Given the description of an element on the screen output the (x, y) to click on. 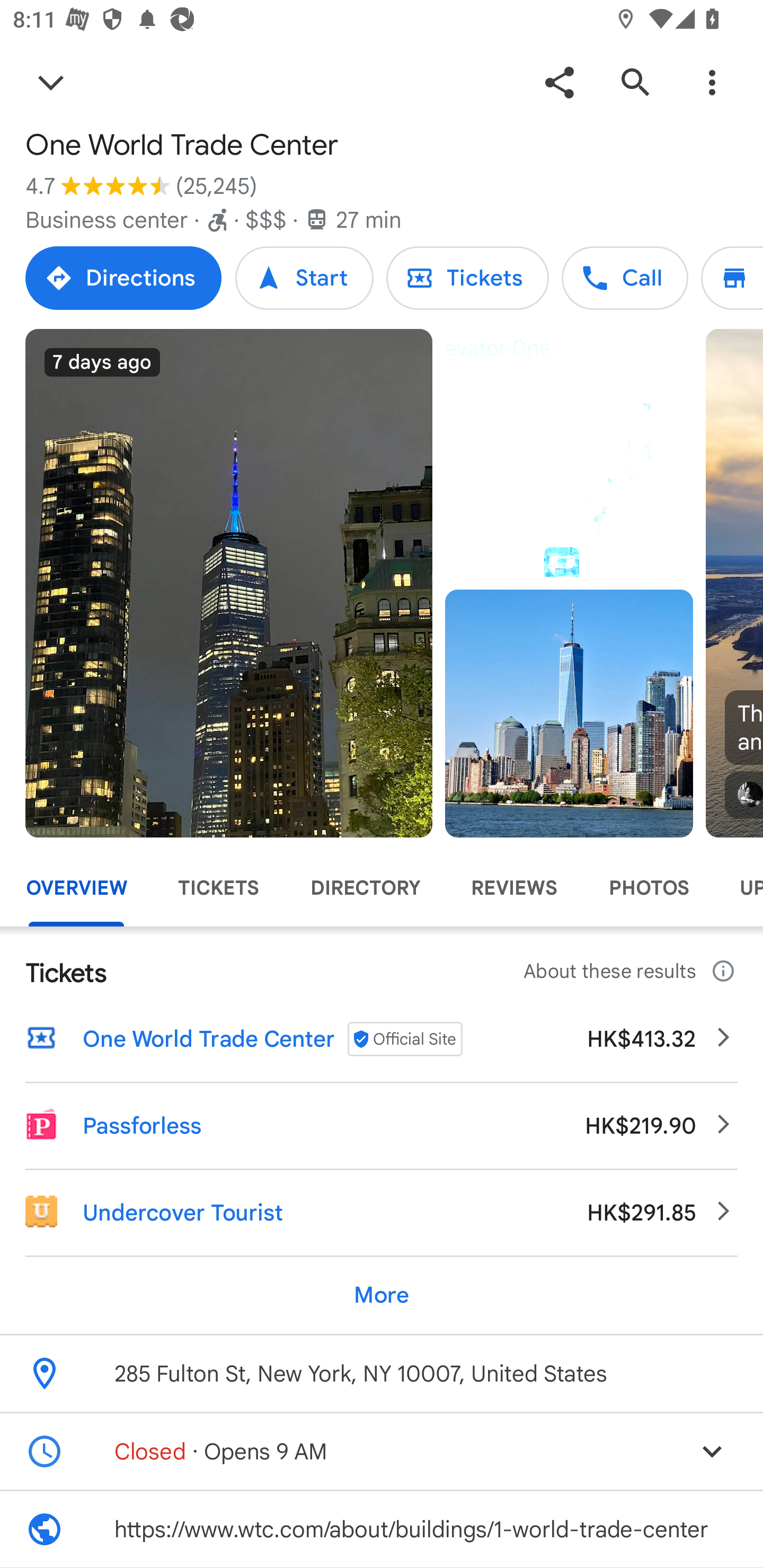
Back to Search (50, 81)
Share (559, 81)
Search (635, 81)
More options for One World Trade Center (711, 81)
Start Start Start (304, 277)
Tickets (467, 277)
Directory Directory Directory (732, 277)
Photo uploaded 7 days ago (228, 583)
Video (568, 453)
Photo (568, 713)
TICKETS Tickets (218, 887)
DIRECTORY Directory (364, 887)
REVIEWS Reviews (513, 887)
PHOTOS Photos (648, 887)
About these results (630, 970)
One World Trade Center Official Site HK$413.32 (381, 1038)
Passforless HK$219.90 (381, 1125)
Undercover Tourist HK$291.85 (381, 1212)
More More More (381, 1294)
